Given the description of an element on the screen output the (x, y) to click on. 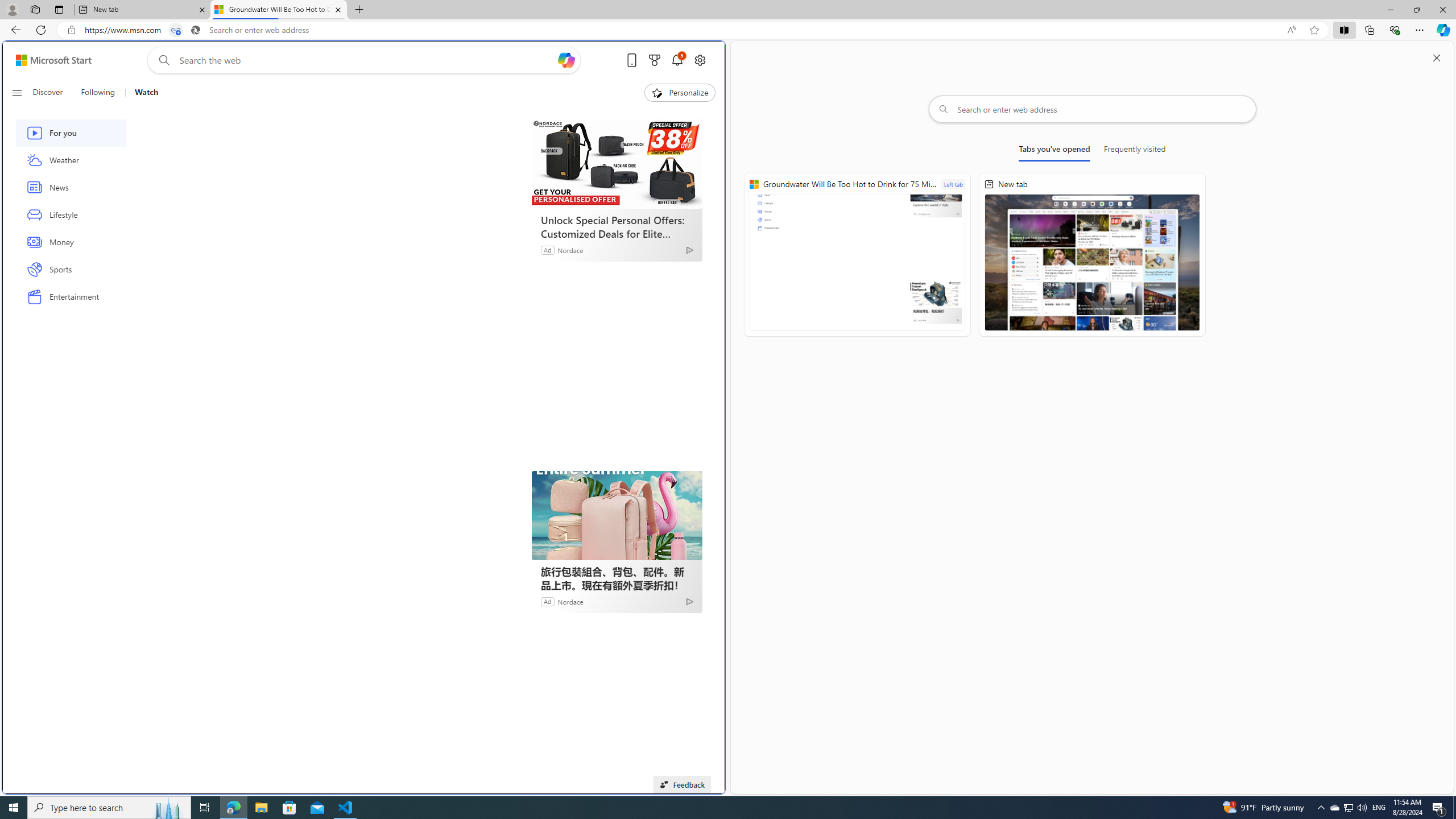
Watch (145, 92)
Watch (141, 92)
Enter your search term (366, 59)
Skip to content (49, 59)
